Given the description of an element on the screen output the (x, y) to click on. 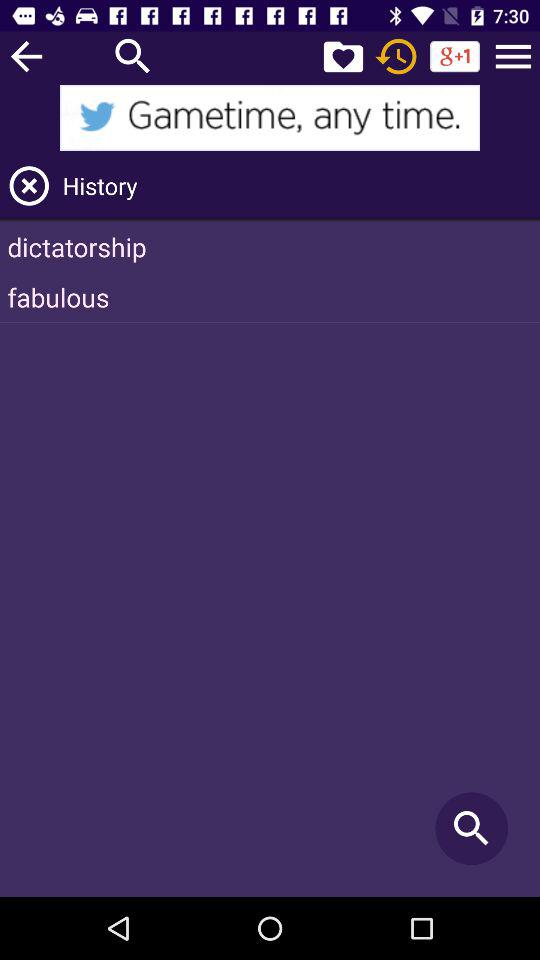
more options (513, 56)
